Given the description of an element on the screen output the (x, y) to click on. 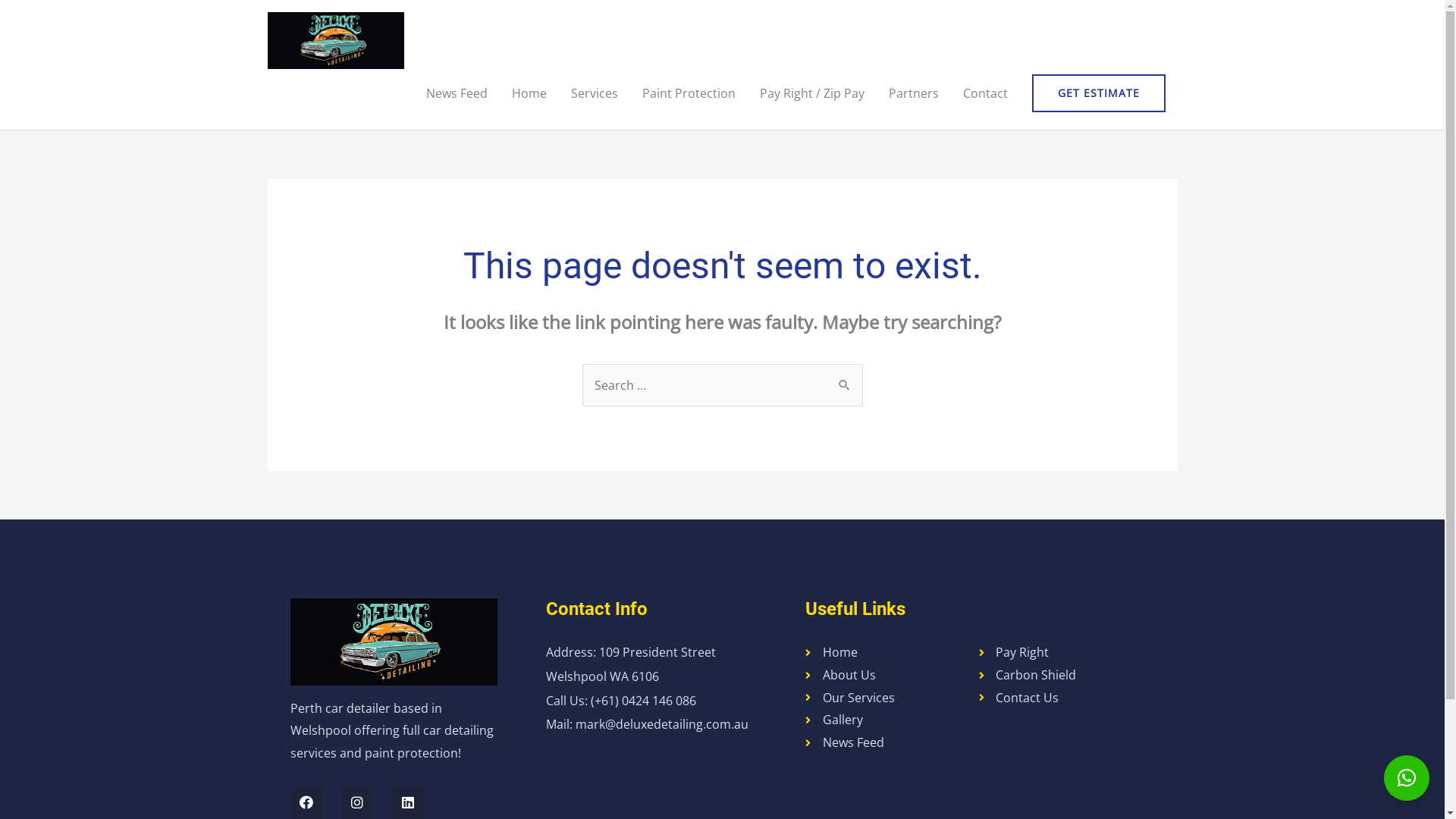
News Feed Element type: text (456, 93)
Partners Element type: text (913, 93)
Our Services Element type: text (891, 698)
Contact Us Element type: text (1065, 698)
Home Element type: text (528, 93)
News Feed Element type: text (891, 742)
Home Element type: text (891, 652)
Carbon Shield Element type: text (1065, 675)
Search Element type: text (845, 379)
Pay Right Element type: text (1065, 652)
Services Element type: text (593, 93)
Paint Protection Element type: text (687, 93)
About Us Element type: text (891, 675)
Pay Right / Zip Pay Element type: text (811, 93)
GET ESTIMATE Element type: text (1097, 93)
Contact Element type: text (984, 93)
Gallery Element type: text (891, 720)
